Given the description of an element on the screen output the (x, y) to click on. 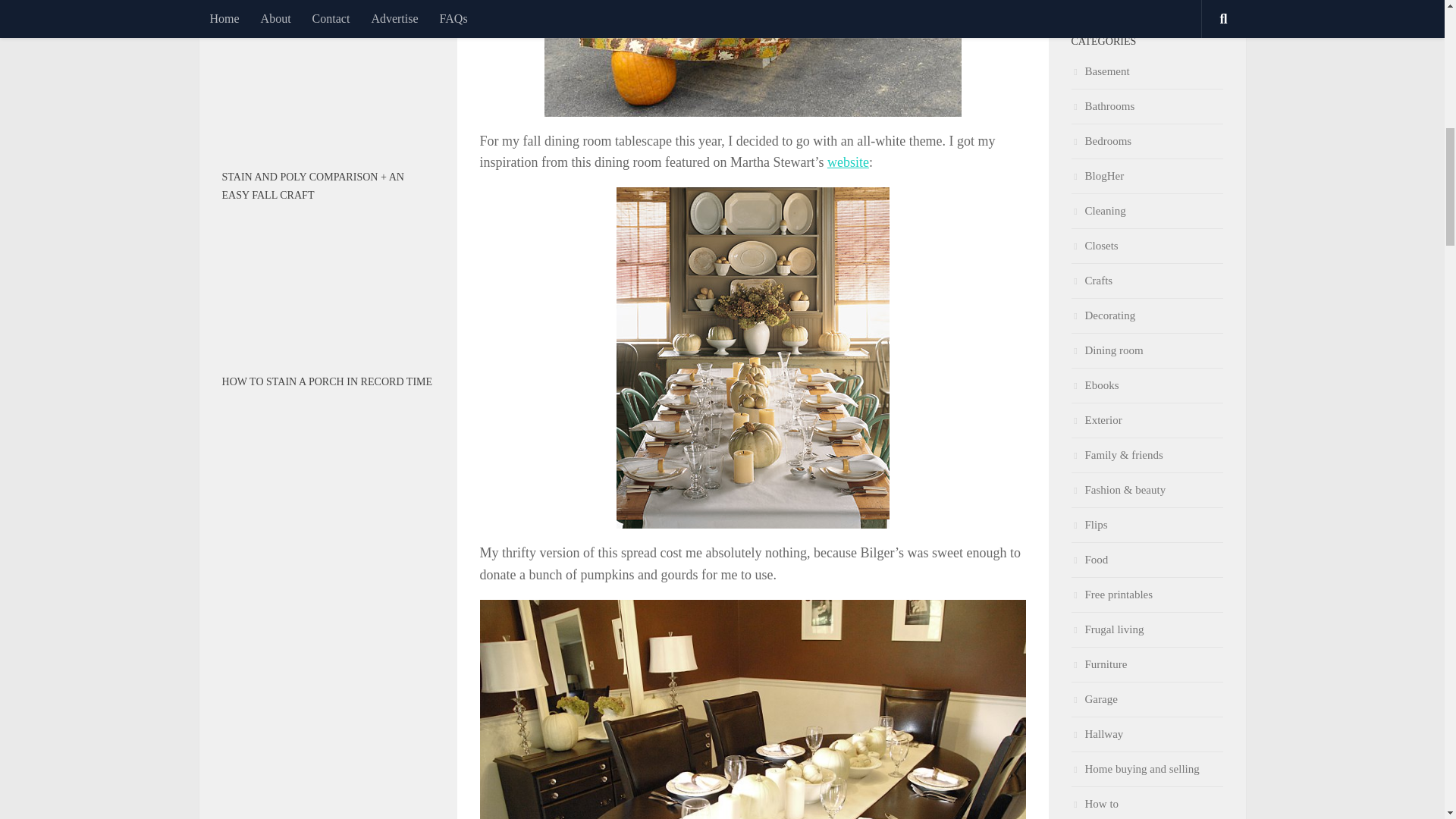
Fall tablescape (752, 709)
Bilgers2 (752, 58)
